Given the description of an element on the screen output the (x, y) to click on. 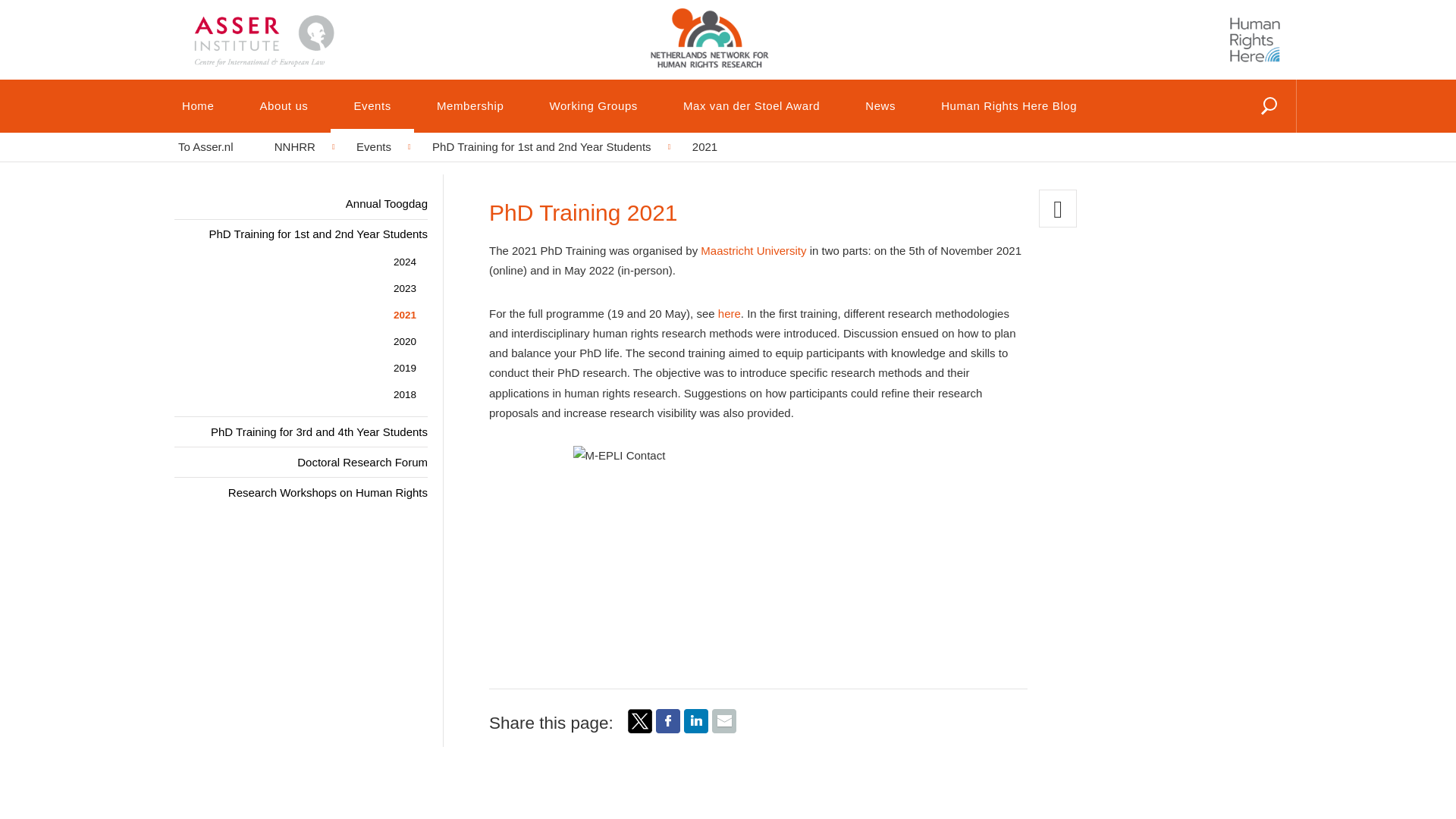
Search (1233, 125)
Events (371, 105)
Email (723, 728)
LinkedIn (695, 721)
Home (196, 105)
Go back to T.M.C. Asser Instituut Homepage (287, 27)
Facebook (667, 721)
Tweet (639, 721)
Search (1233, 125)
Facebook (667, 728)
About us (282, 105)
Email (723, 721)
Human Rights Here Blog (1254, 38)
LinkedIn (695, 728)
Tweet (639, 728)
